Given the description of an element on the screen output the (x, y) to click on. 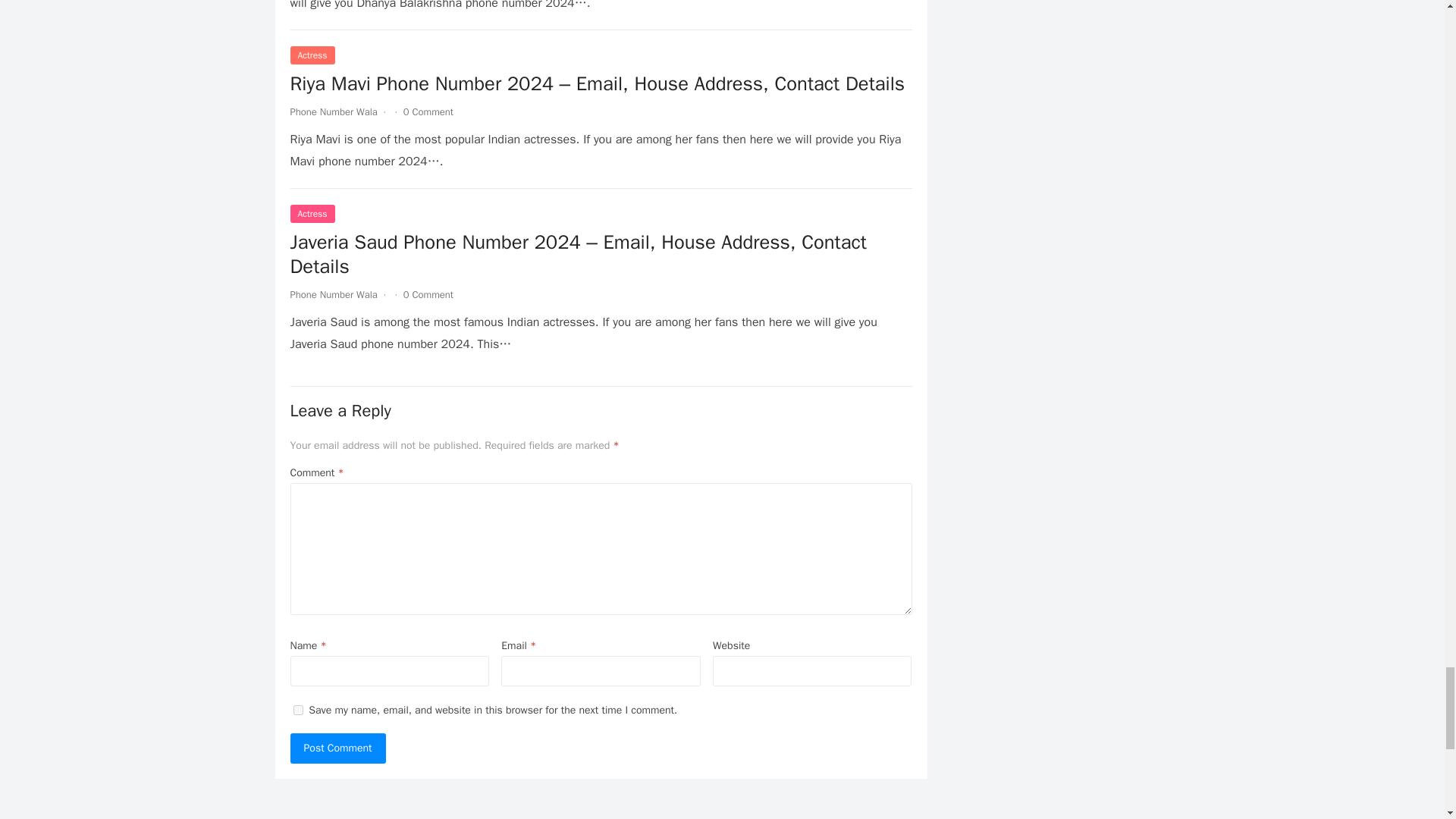
yes (297, 709)
Post Comment (337, 748)
